Given the description of an element on the screen output the (x, y) to click on. 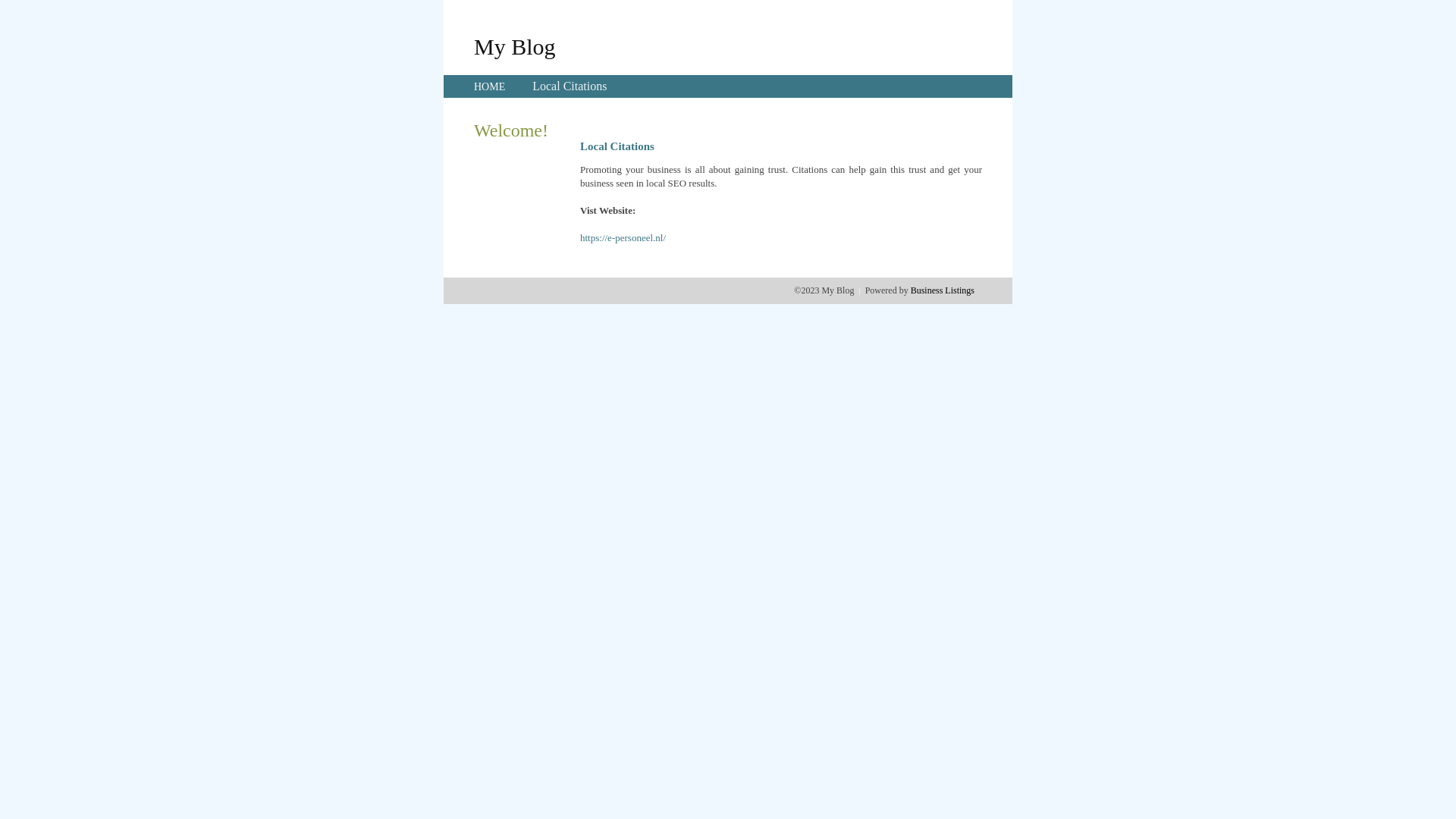
My Blog Element type: text (514, 46)
https://e-personeel.nl/ Element type: text (622, 237)
HOME Element type: text (489, 86)
Local Citations Element type: text (569, 85)
Business Listings Element type: text (942, 290)
